Given the description of an element on the screen output the (x, y) to click on. 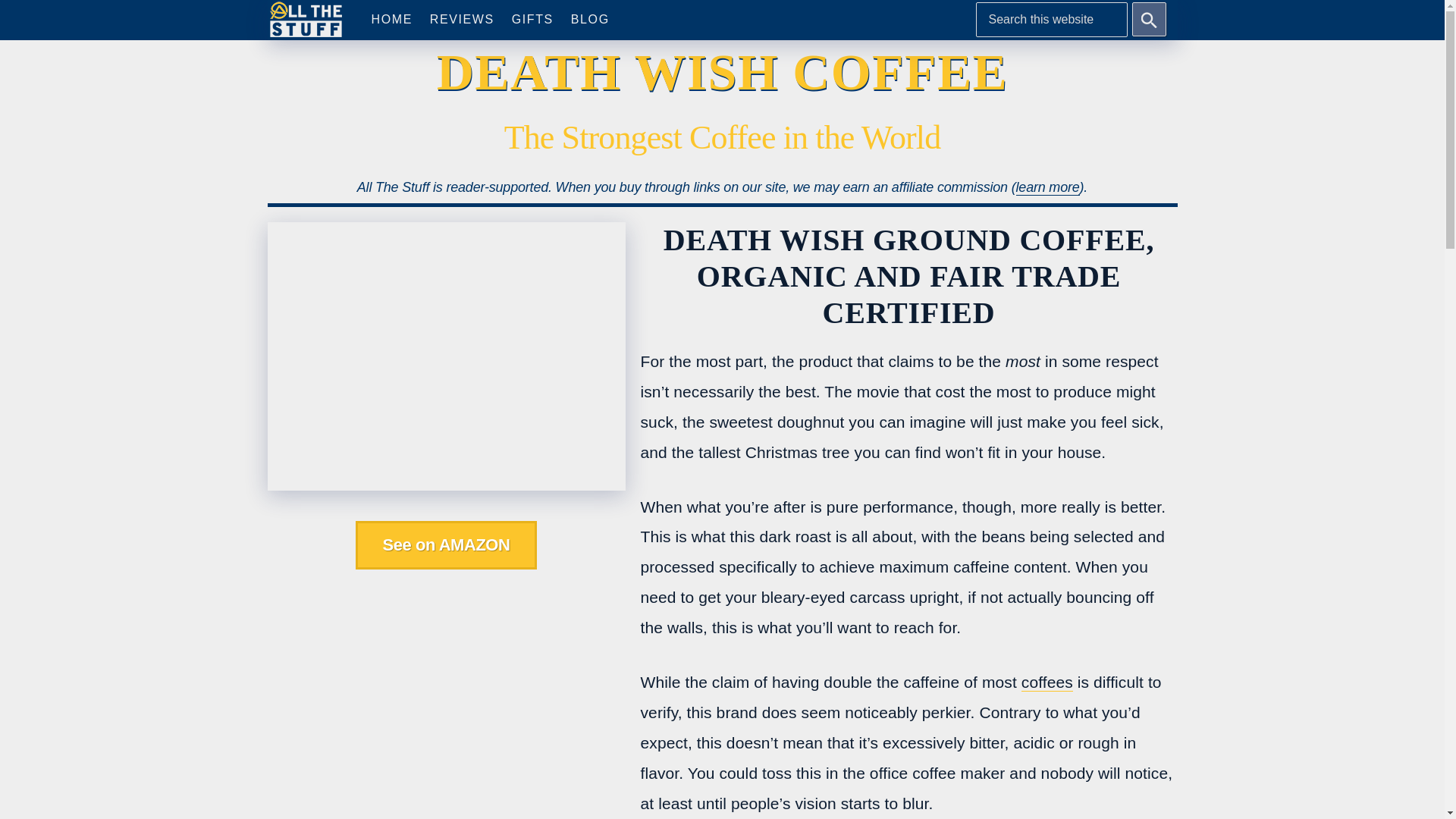
REVIEWS (462, 19)
HOME (391, 19)
All The Stuff (305, 20)
